Given the description of an element on the screen output the (x, y) to click on. 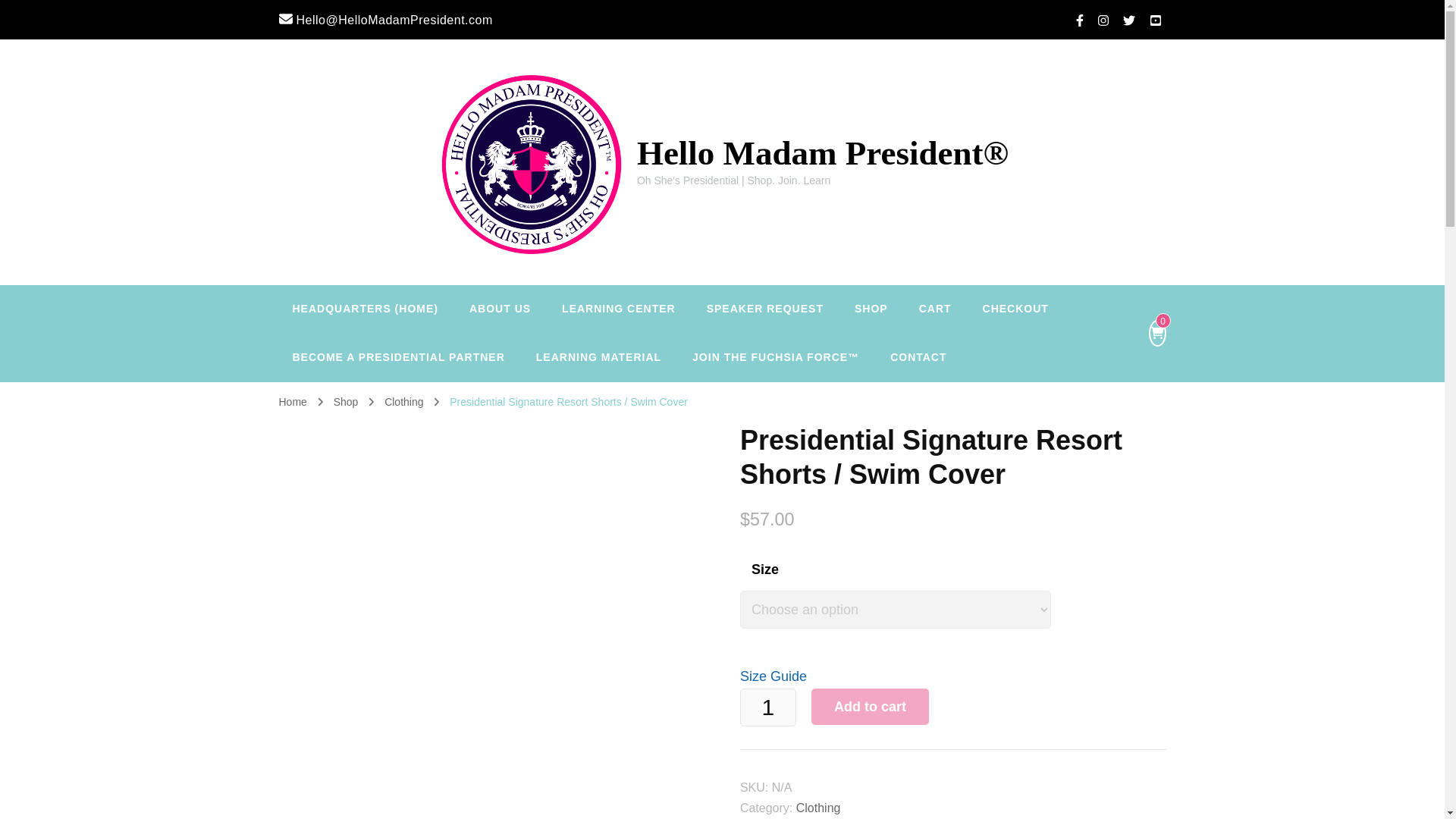
SHOP (871, 309)
BECOME A PRESIDENTIAL PARTNER (398, 357)
Home (293, 401)
SPEAKER REQUEST (765, 309)
Clothing (394, 401)
CONTACT (917, 357)
CHECKOUT (1015, 309)
ABOUT US (499, 309)
CART (935, 309)
Shop (341, 401)
